Given the description of an element on the screen output the (x, y) to click on. 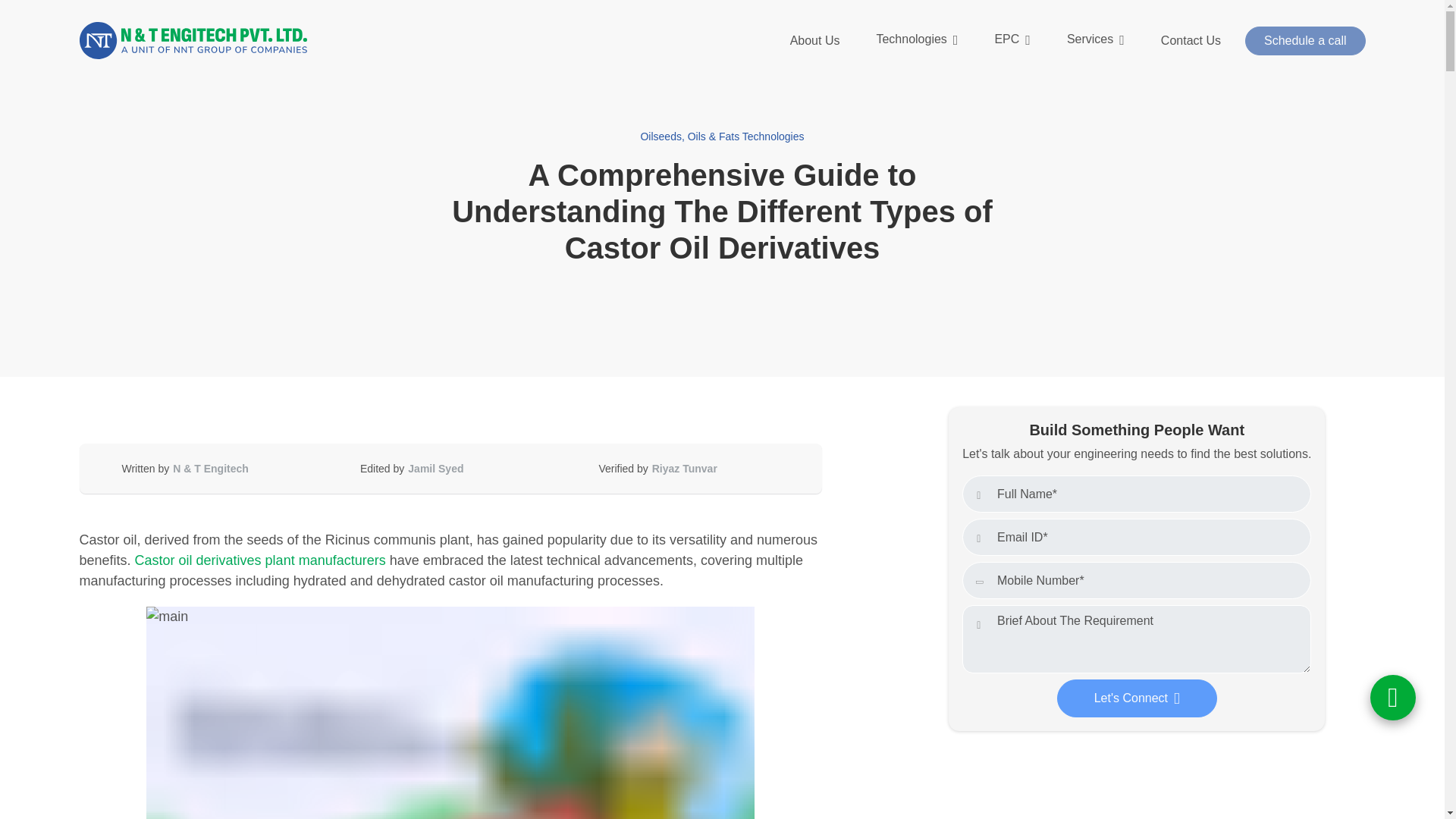
Technologies (916, 40)
EPC (1011, 40)
Castor oil derivatives plant manufacturers (260, 560)
Riyaz Tunvar (683, 468)
About Us (815, 40)
Jamil Syed (435, 468)
Schedule a call (1304, 40)
Let's Connect (1137, 698)
Contact Us (1190, 40)
Services (1095, 40)
